Given the description of an element on the screen output the (x, y) to click on. 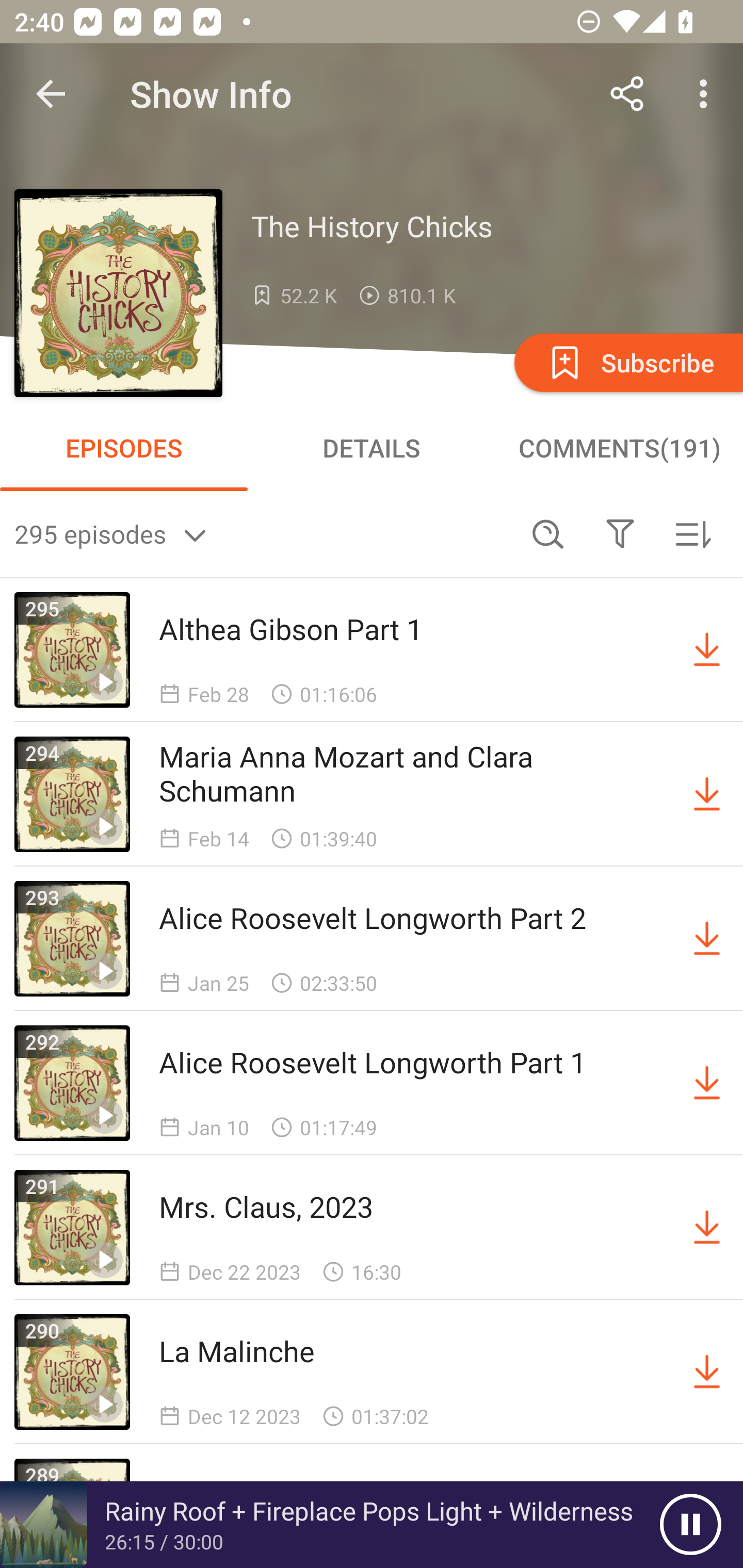
Navigate up (50, 93)
Share (626, 93)
More options (706, 93)
Subscribe (627, 361)
EPISODES (123, 447)
DETAILS (371, 447)
COMMENTS(191) (619, 447)
295 episodes  (262, 533)
 Search (547, 533)
 (619, 533)
 Sorted by newest first (692, 533)
Download (706, 649)
Download (706, 793)
Download (706, 939)
Download (706, 1083)
Download (706, 1227)
Download (706, 1371)
Pause (690, 1524)
